Given the description of an element on the screen output the (x, y) to click on. 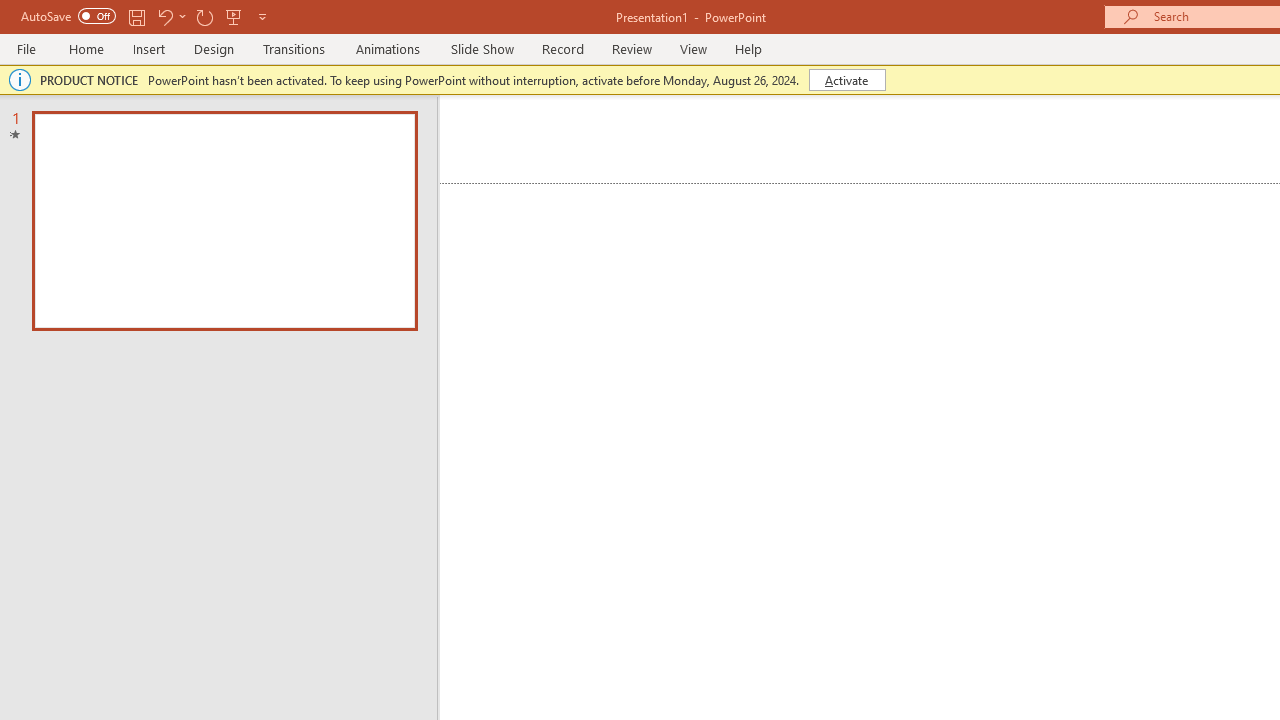
Multilevel List (850, 137)
Increase Indent (944, 137)
Shading RGB(0, 0, 0) (982, 180)
Center (756, 180)
Justify (834, 180)
